Given the description of an element on the screen output the (x, y) to click on. 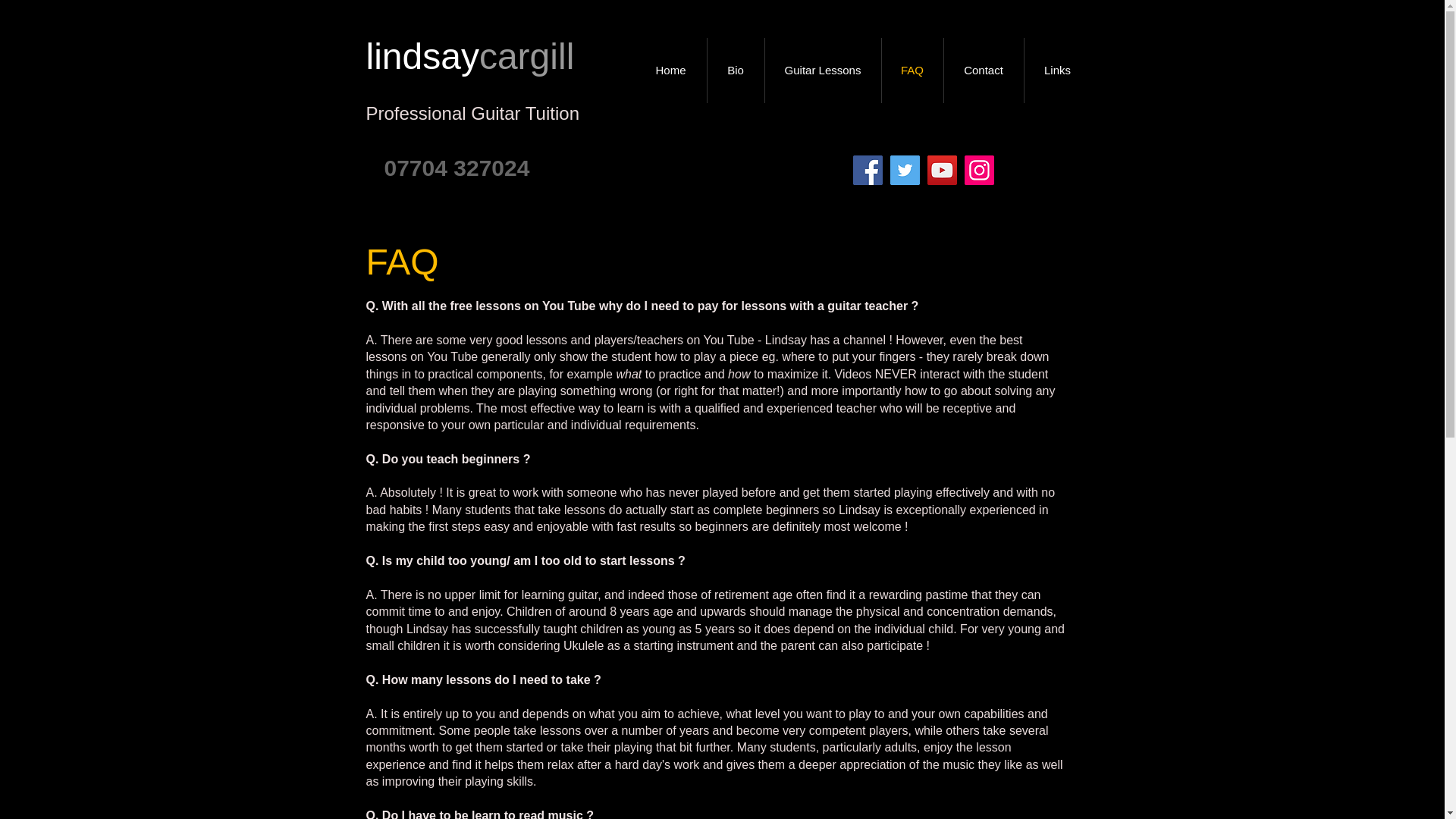
Contact (983, 70)
Links (1056, 70)
FAQ (911, 70)
Guitar Lessons (822, 70)
Home (670, 70)
